Given the description of an element on the screen output the (x, y) to click on. 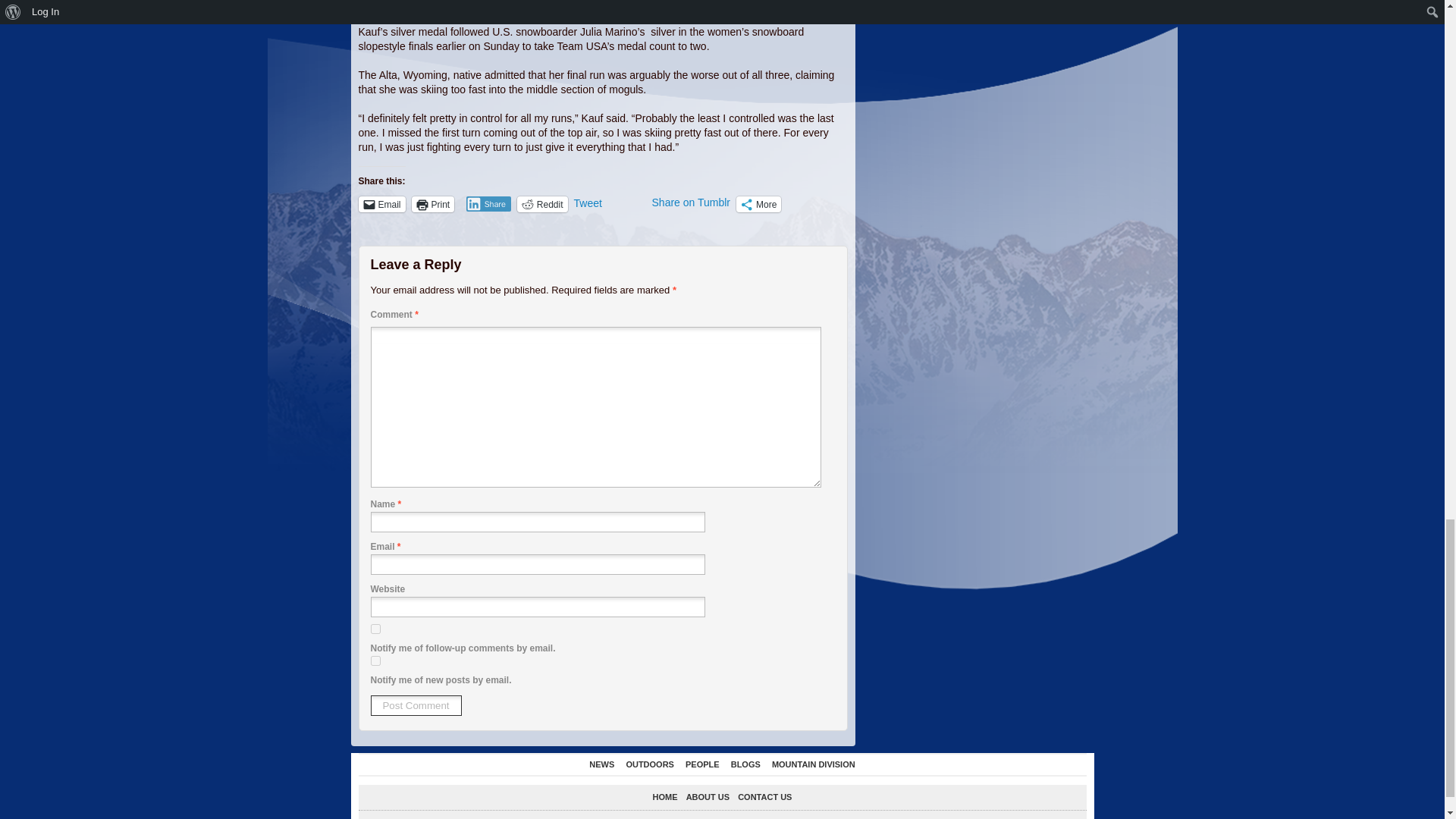
Email (381, 204)
Click to print (433, 204)
Share on Tumblr (691, 202)
Print (433, 204)
Share (488, 203)
Tweet (609, 203)
More (758, 204)
subscribe (374, 628)
Click to share on Reddit (541, 204)
Reddit (541, 204)
subscribe (374, 660)
Click to email a link to a friend (381, 204)
Share on Tumblr (691, 202)
Post Comment (415, 705)
